Given the description of an element on the screen output the (x, y) to click on. 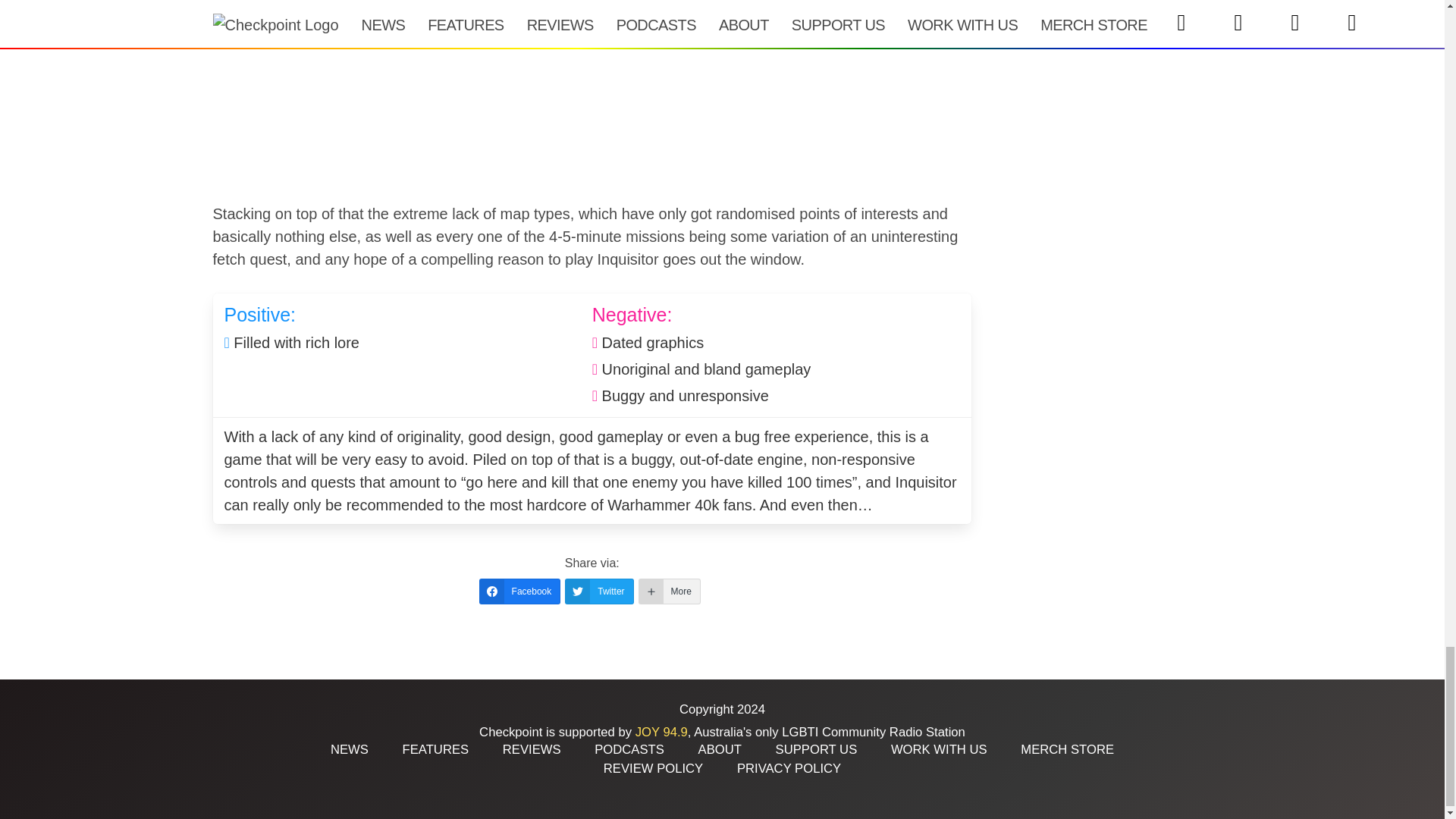
More (669, 591)
Twitter (598, 591)
Facebook (519, 591)
